Given the description of an element on the screen output the (x, y) to click on. 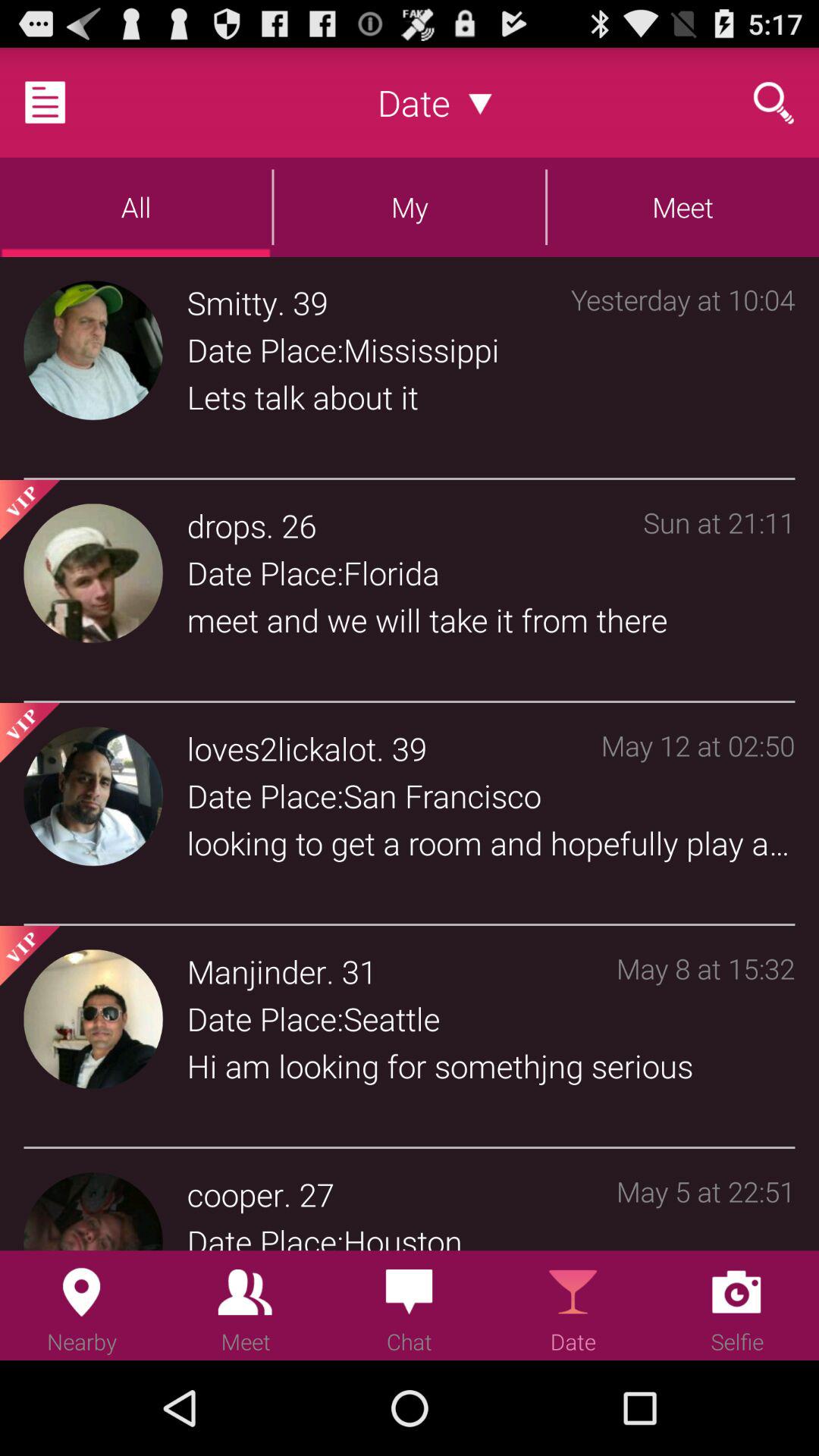
press the icon below the date place:houston app (491, 1288)
